Given the description of an element on the screen output the (x, y) to click on. 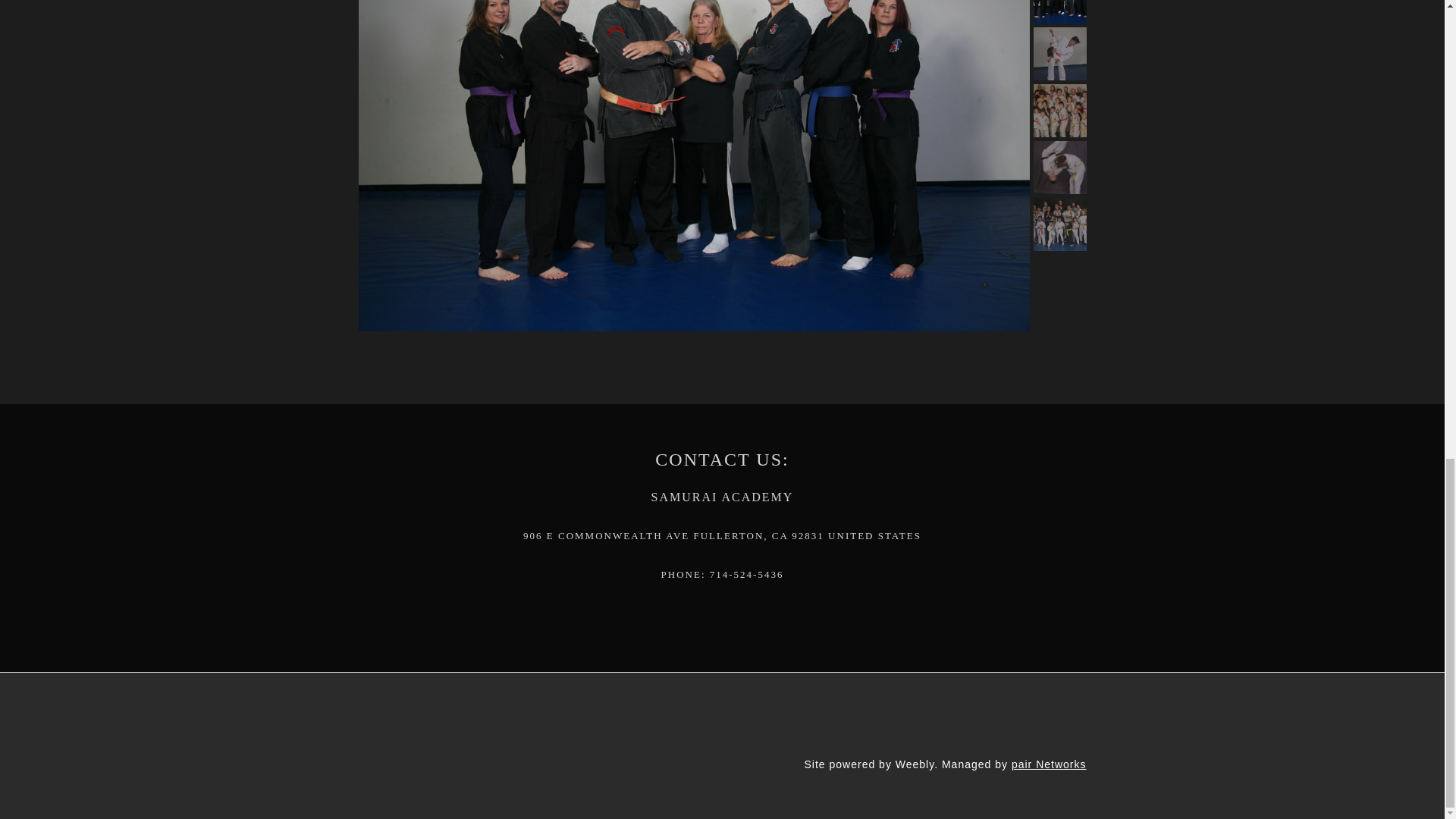
pair Networks (1048, 764)
